Given the description of an element on the screen output the (x, y) to click on. 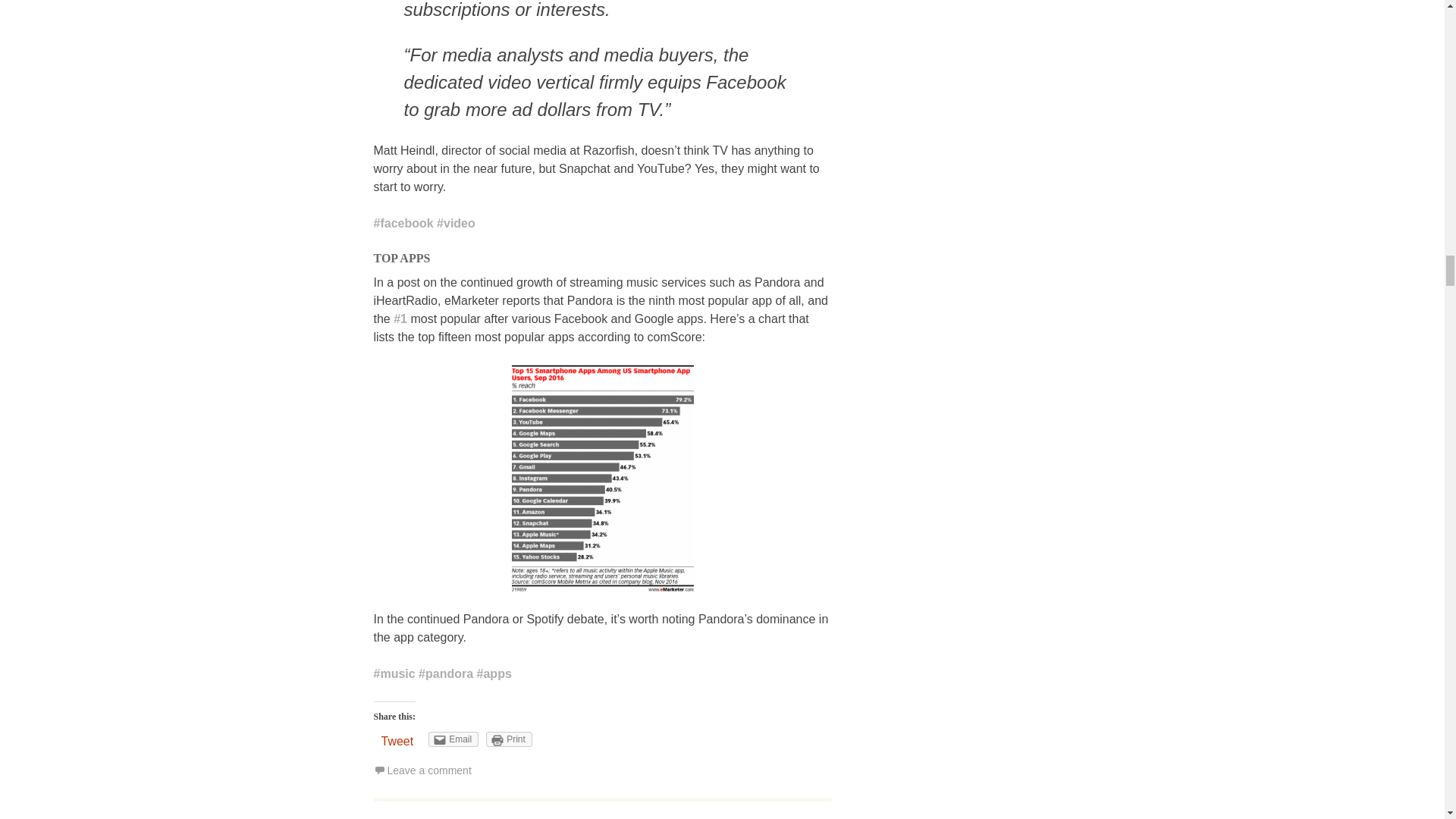
Click to email this to a friend (453, 739)
